Given the description of an element on the screen output the (x, y) to click on. 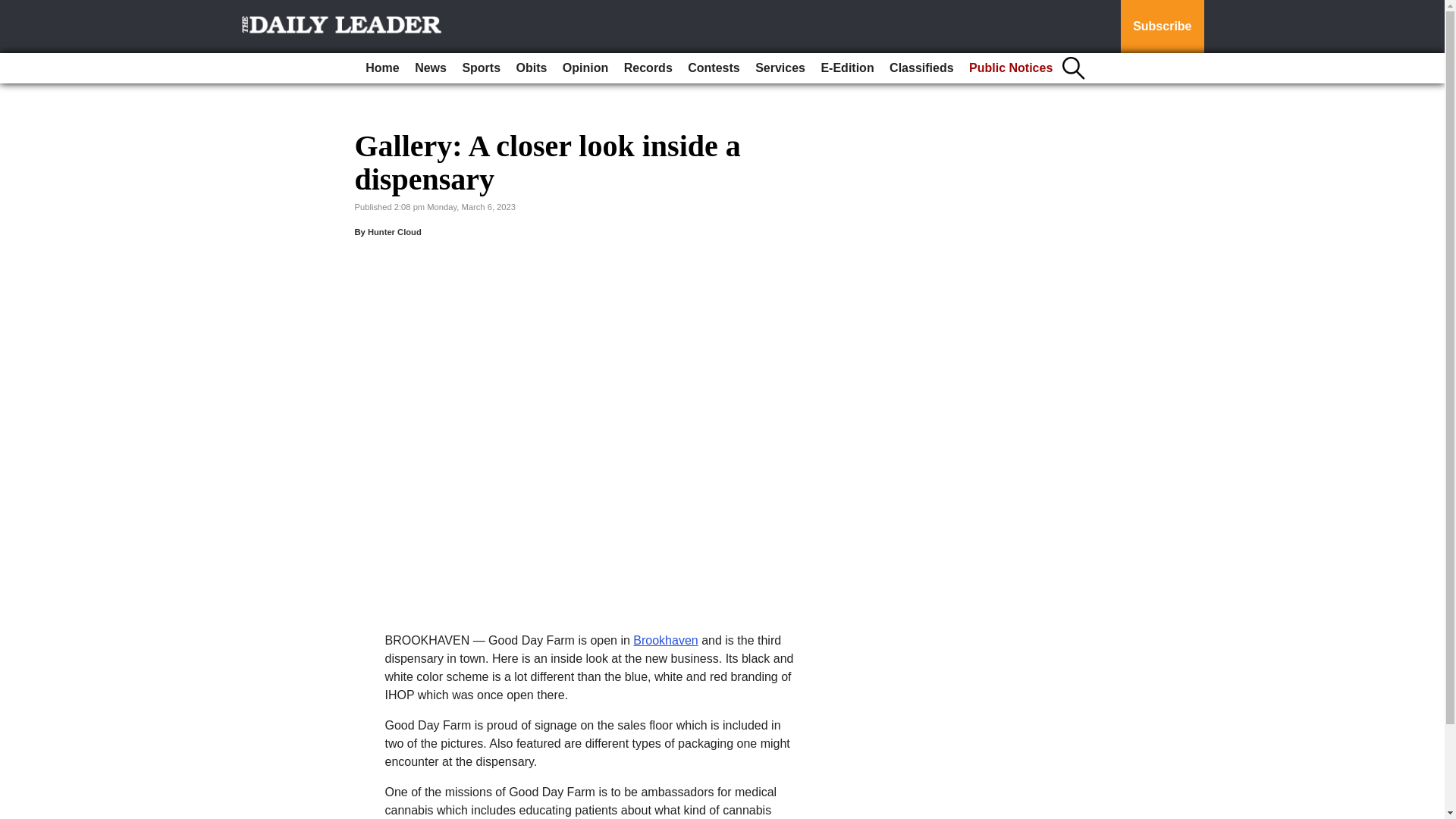
Subscribe (1162, 26)
Home (381, 68)
Go (13, 9)
Opinion (585, 68)
Classifieds (921, 68)
Brookhaven (665, 640)
Records (647, 68)
Services (779, 68)
Contests (713, 68)
News (430, 68)
